Given the description of an element on the screen output the (x, y) to click on. 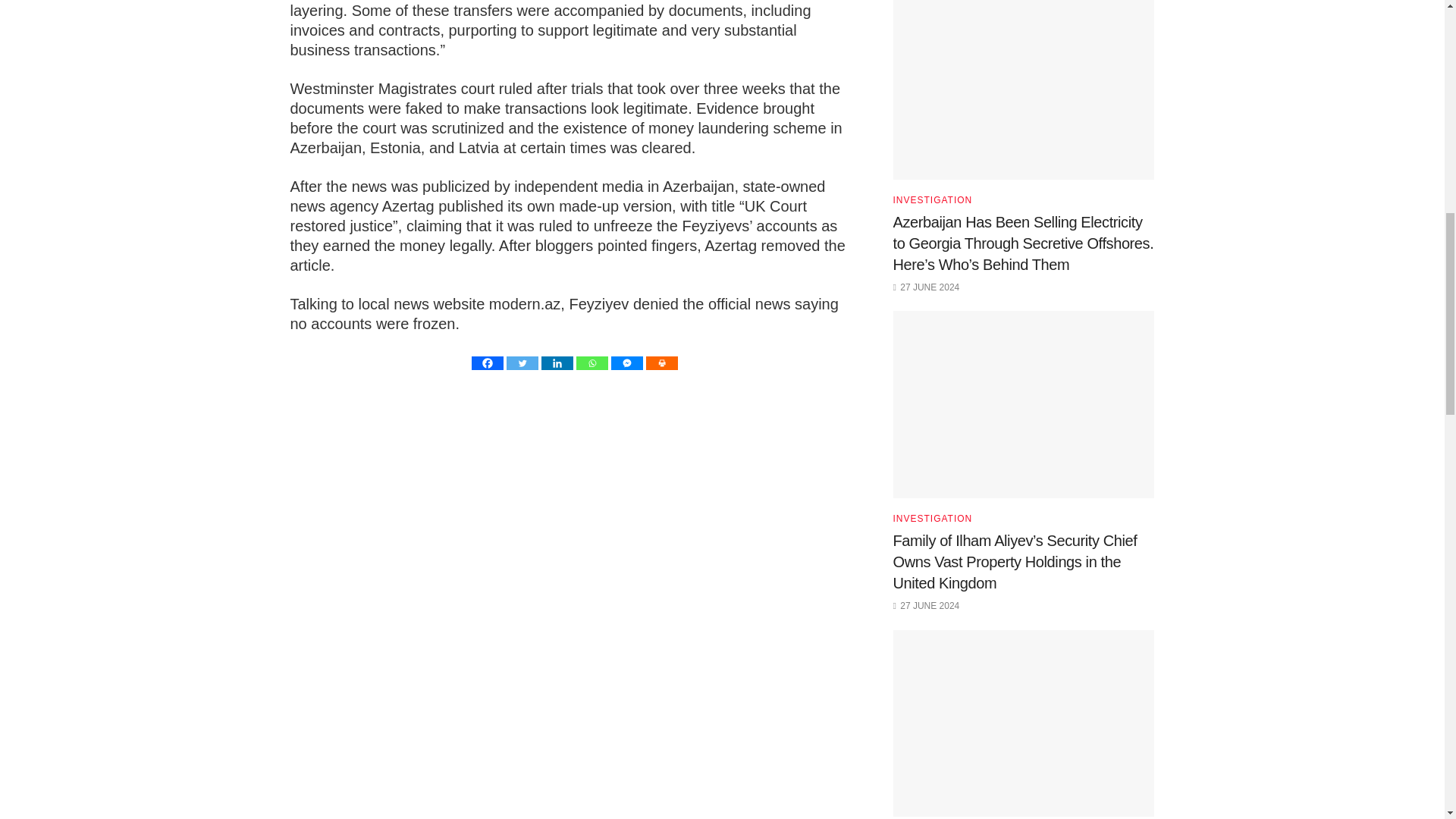
Linkedin (557, 363)
Twitter (522, 363)
Whatsapp (592, 363)
Print (662, 363)
Facebook (487, 363)
